Given the description of an element on the screen output the (x, y) to click on. 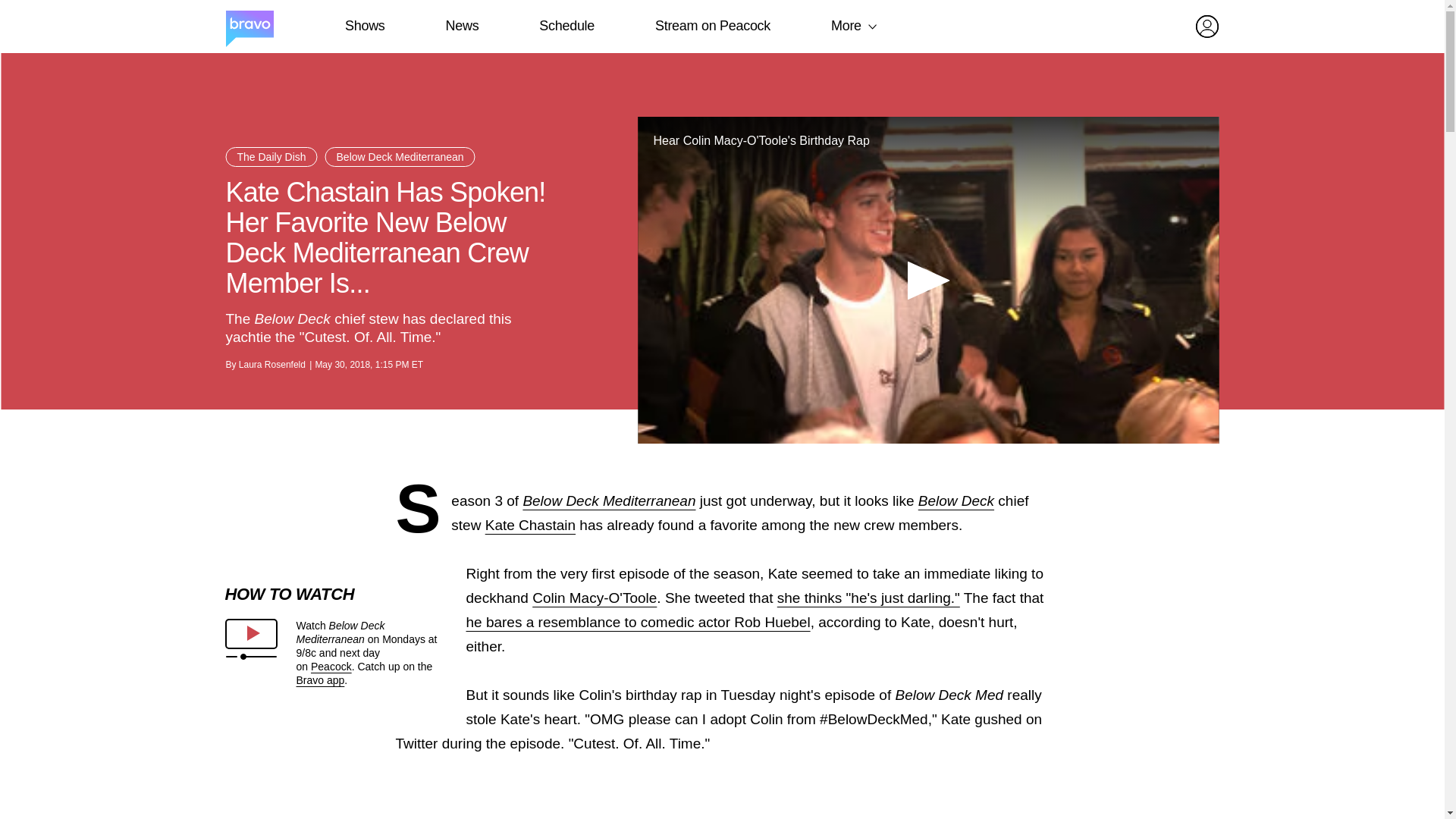
he bares a resemblance to comedic actor Rob Huebel (637, 621)
Laura Rosenfeld (271, 364)
The Daily Dish (271, 157)
Colin Macy-O'Toole (594, 597)
News (462, 26)
Below Deck (956, 500)
Home (249, 26)
Peacock (331, 666)
she thinks "he's just darling." (868, 597)
Below Deck Mediterranean (608, 500)
